Given the description of an element on the screen output the (x, y) to click on. 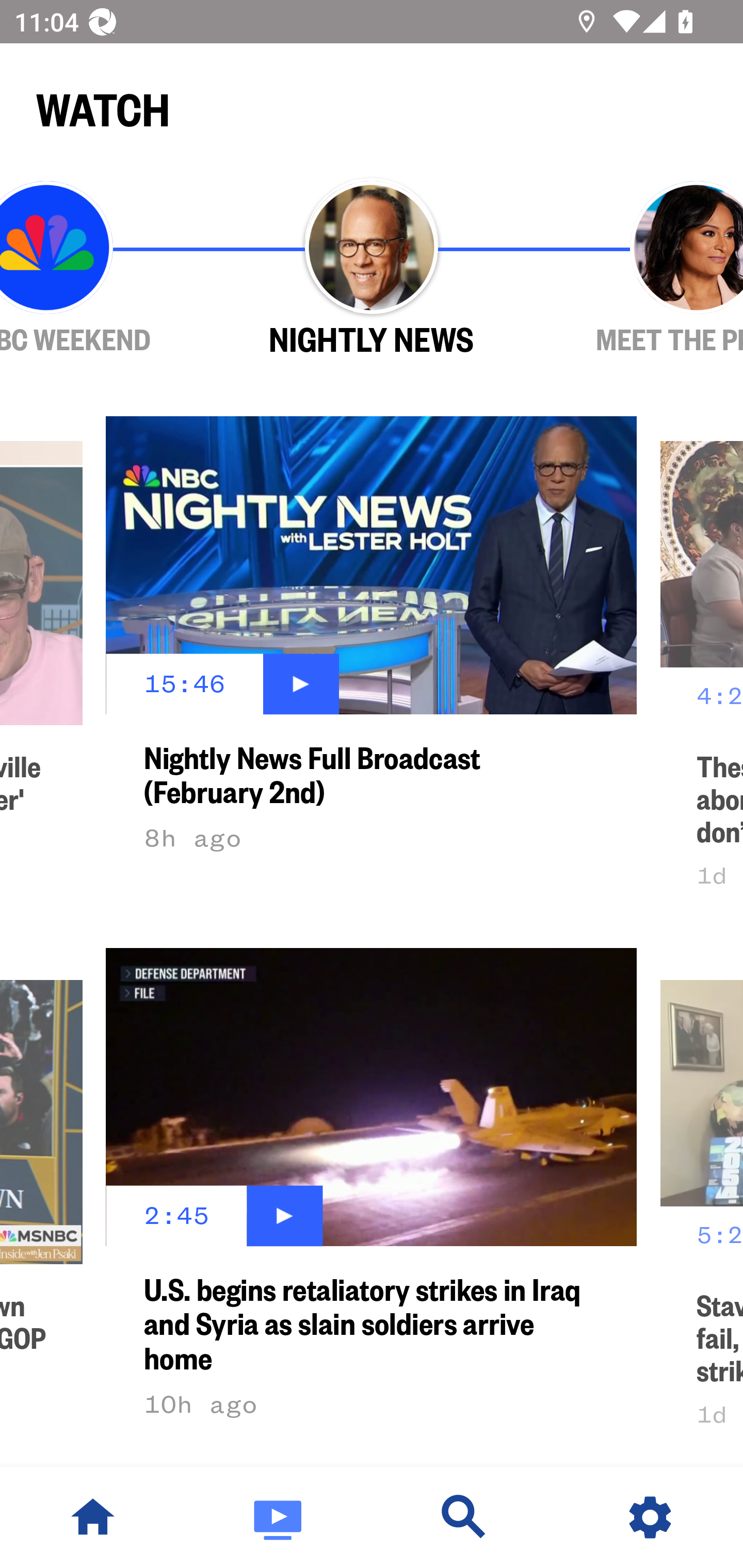
MSNBC WEEKEND (104, 268)
NIGHTLY NEWS (371, 268)
MEET THE PRESS (638, 268)
NBC News Home (92, 1517)
Discover (464, 1517)
Settings (650, 1517)
